Given the description of an element on the screen output the (x, y) to click on. 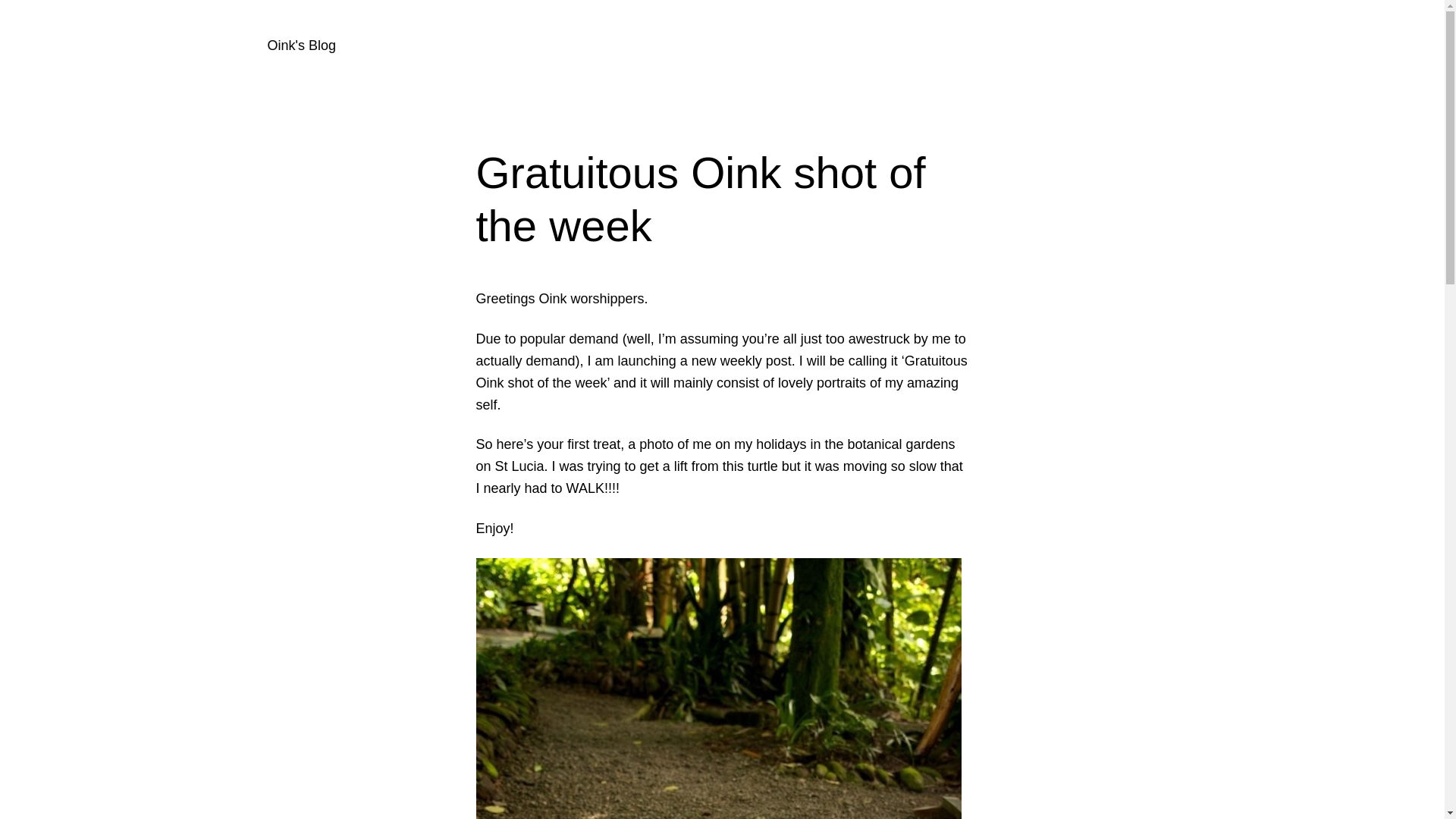
Oink's Blog (300, 45)
